Given the description of an element on the screen output the (x, y) to click on. 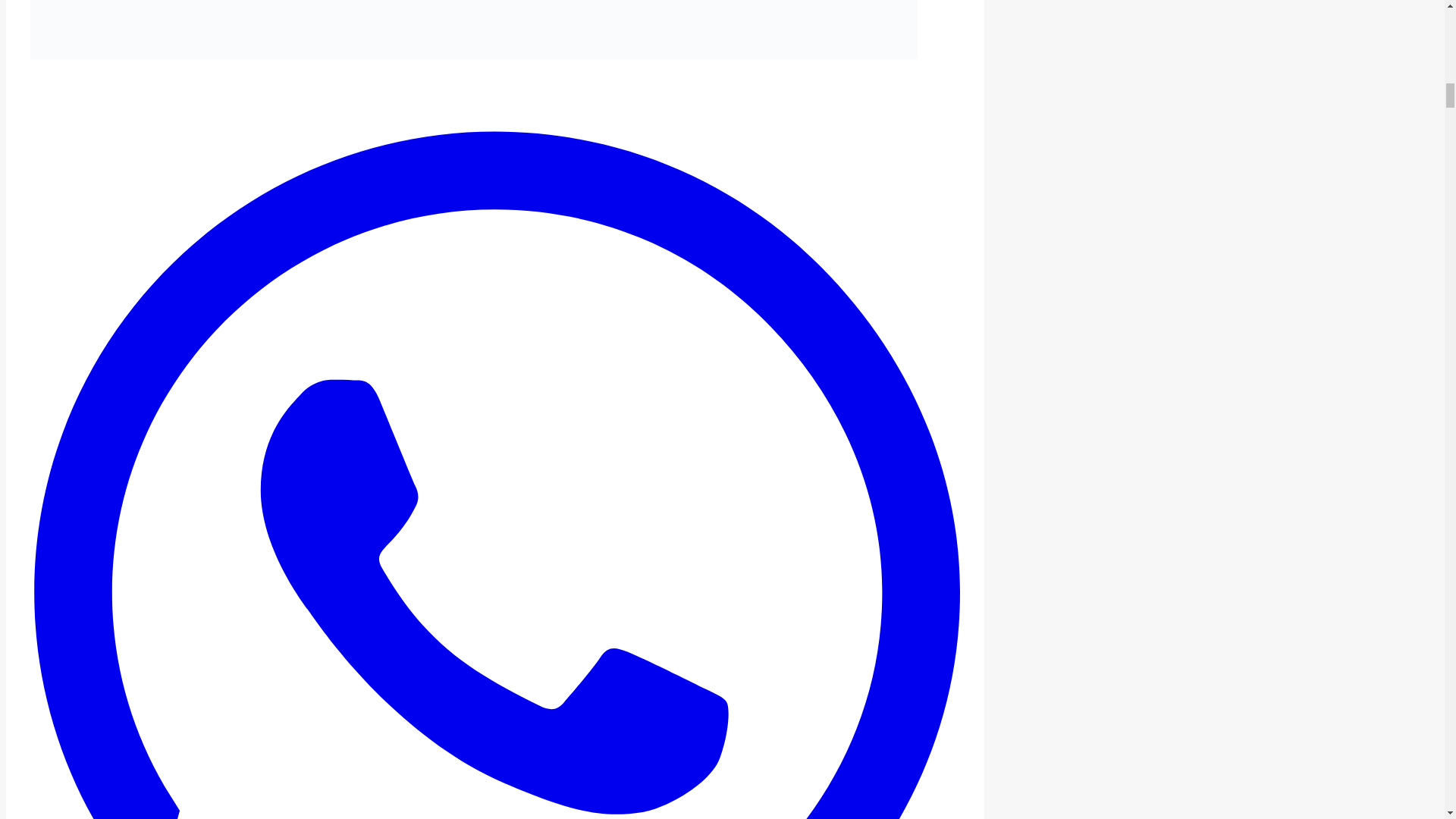
Ceratosaurus Symbolism and Meaning 1 (473, 29)
